Given the description of an element on the screen output the (x, y) to click on. 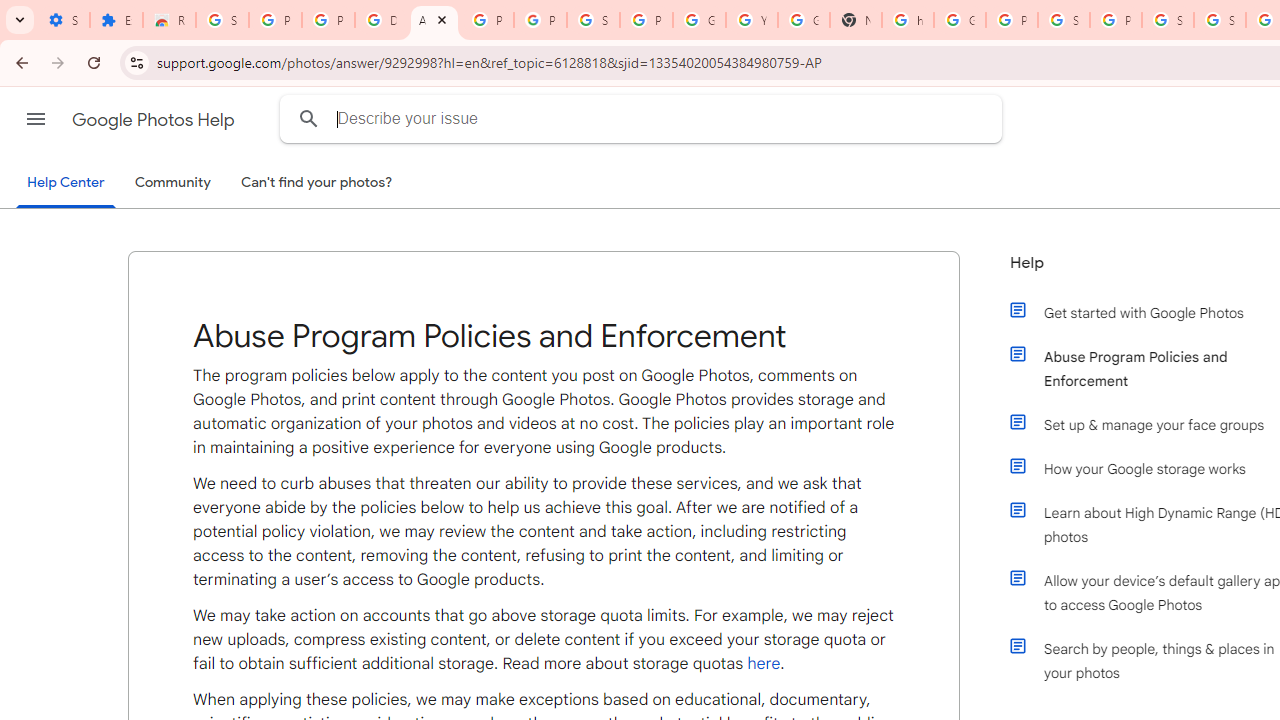
Settings - On startup (63, 20)
Sign in - Google Accounts (1219, 20)
Google Account (699, 20)
Sign in - Google Accounts (222, 20)
Describe your issue (644, 118)
Delete photos & videos - Computer - Google Photos Help (381, 20)
